Given the description of an element on the screen output the (x, y) to click on. 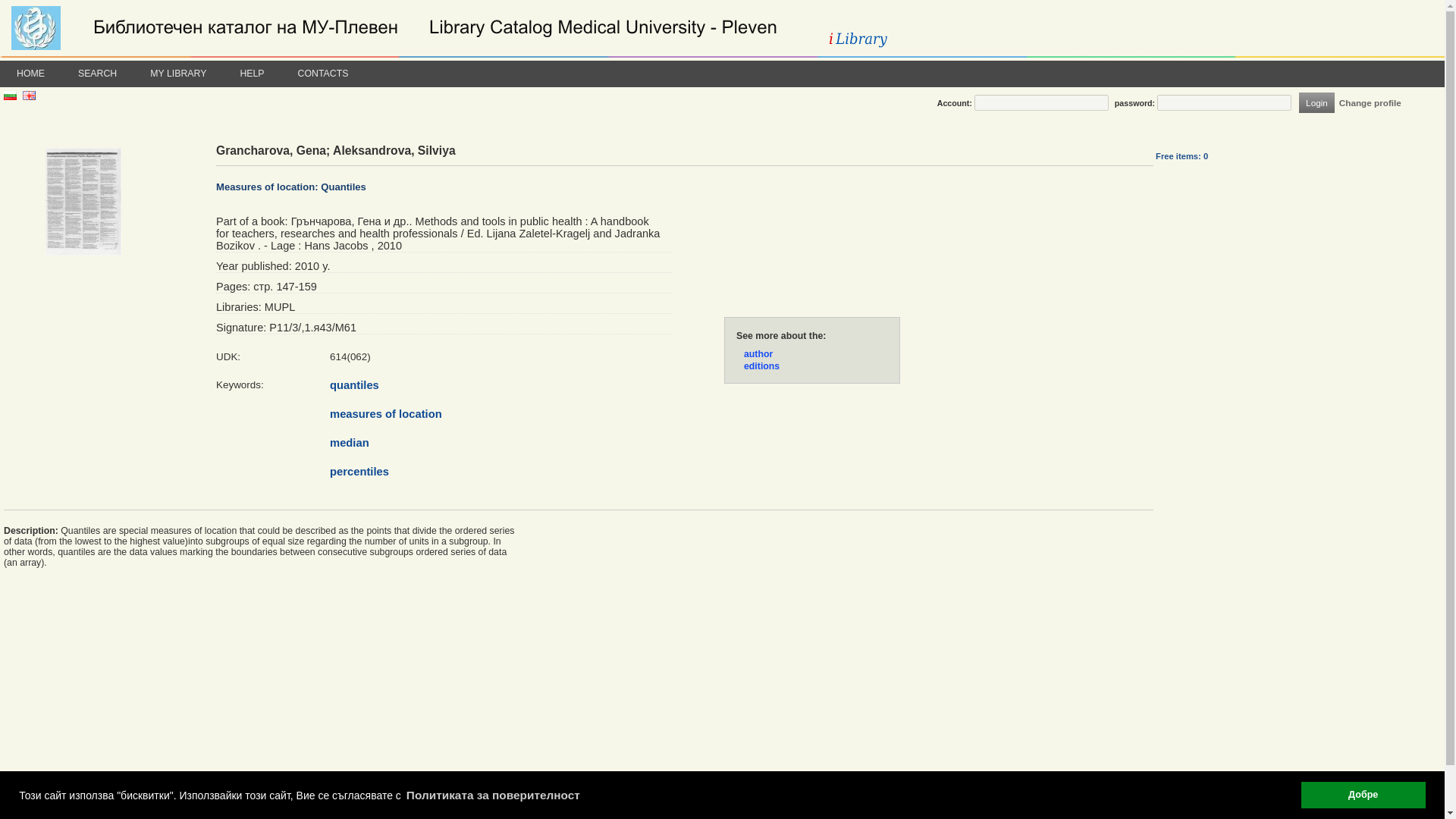
median (349, 442)
Login (1316, 102)
MY LIBRARY (177, 72)
author (758, 353)
Change profile (1369, 102)
CONTACTS (323, 72)
editions (761, 366)
percentiles (359, 471)
quantiles (354, 385)
measures of location (386, 413)
English (28, 96)
SEARCH (97, 72)
HOME (30, 72)
HELP (251, 72)
Home (470, 27)
